Given the description of an element on the screen output the (x, y) to click on. 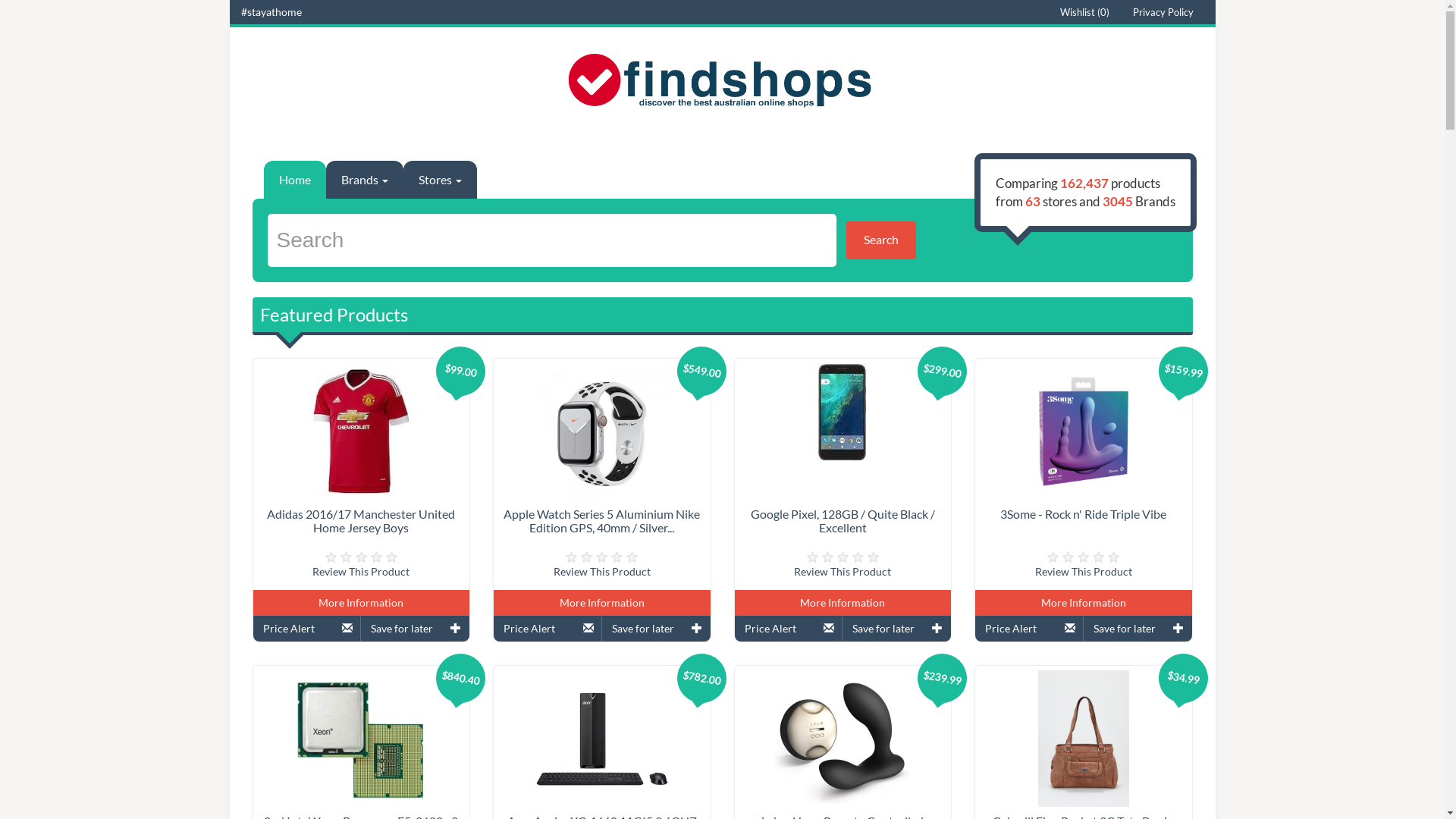
Price Alert  Element type: text (547, 628)
Adidas 2016/17 Manchester United Home Jersey Boys Element type: text (360, 520)
Save for later  Element type: text (656, 628)
Review This Product Element type: text (601, 570)
Home Element type: text (294, 179)
Brands Element type: text (364, 179)
Review This Product Element type: text (1083, 570)
Search Element type: text (881, 240)
Stores Element type: text (439, 179)
Price Alert  Element type: text (1029, 628)
Google Pixel, 128GB / Quite Black / Excellent Element type: text (842, 520)
3Some - Rock n' Ride Triple Vibe Element type: text (1083, 513)
More Information Element type: text (361, 602)
Save for later  Element type: text (1137, 628)
Save for later  Element type: text (414, 628)
Price Alert  Element type: text (307, 628)
Review This Product Element type: text (360, 570)
More Information Element type: text (842, 602)
More Information Element type: text (1083, 602)
More Information Element type: text (601, 602)
Review This Product Element type: text (842, 570)
Save for later  Element type: text (896, 628)
Price Alert  Element type: text (788, 628)
